Given the description of an element on the screen output the (x, y) to click on. 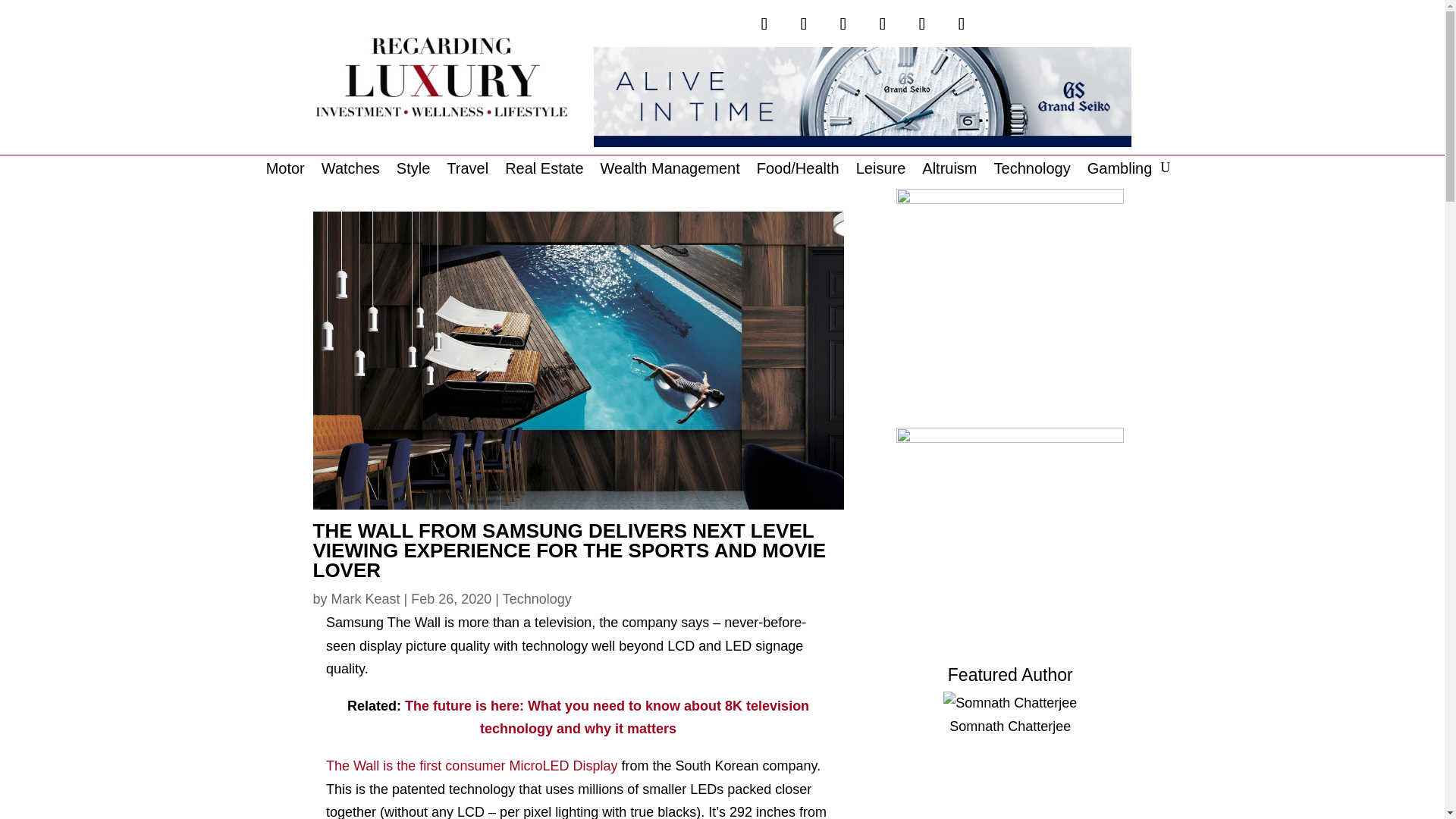
Follow on X (764, 23)
Watches (350, 170)
Travel (466, 170)
Follow on Instagram (843, 23)
Gambling (1120, 170)
Altruism (948, 170)
Wealth Management (669, 170)
Regarding Luxury banner Logo - 420x142 (441, 77)
Leisure (880, 170)
Style (412, 170)
Motor (285, 170)
Follow on Facebook (804, 23)
Technology (1032, 170)
Real Estate (544, 170)
Follow on Youtube (922, 23)
